Given the description of an element on the screen output the (x, y) to click on. 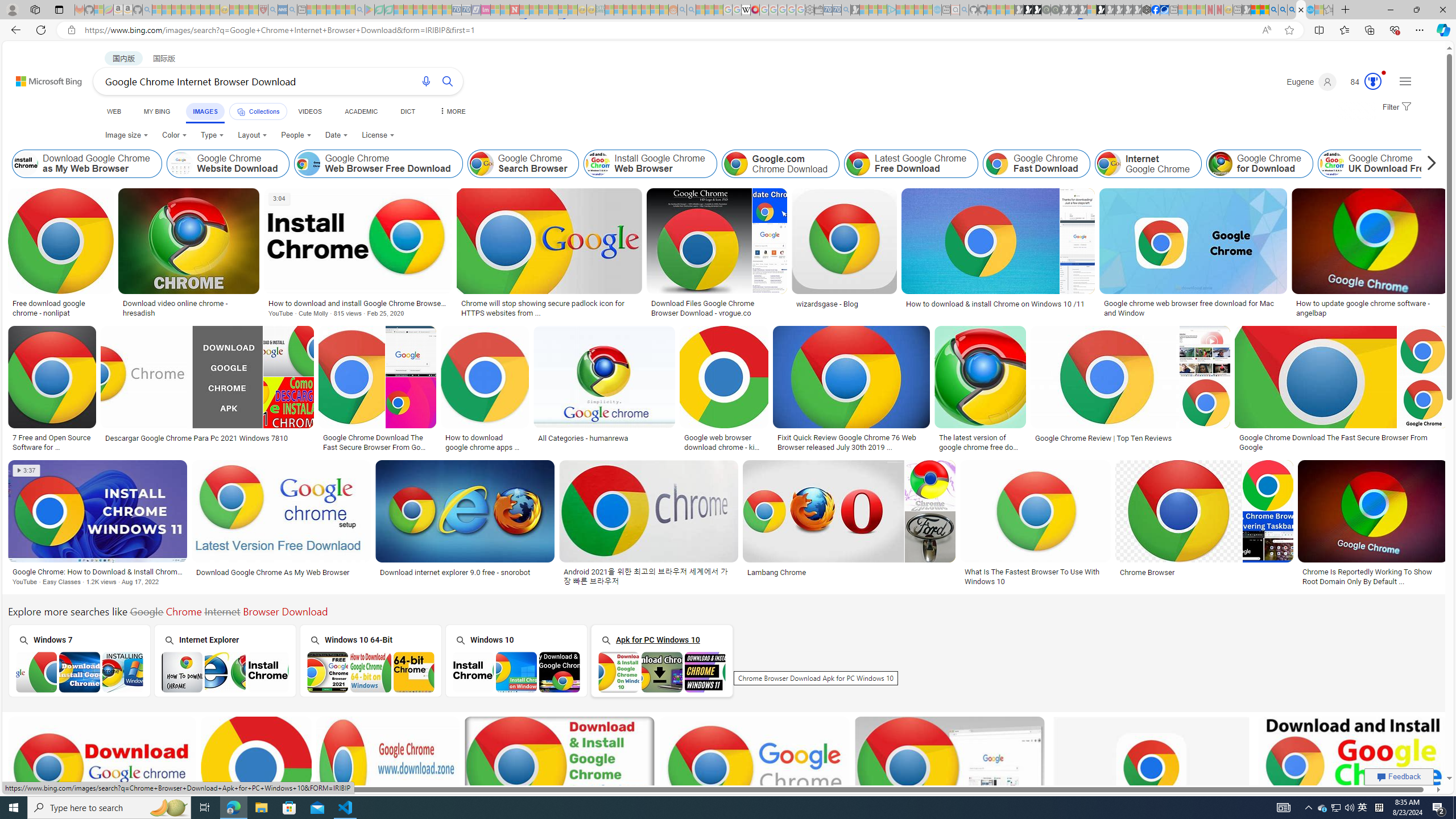
Internet Explorer (224, 660)
Download internet explorer 9.0 free - snorobot (454, 571)
Latest Google Chrome Free Download (857, 163)
Watch video (279, 198)
14 Common Myths Debunked By Scientific Facts - Sleeping (533, 9)
AutomationID: serp_medal_svg (1372, 81)
Google Chrome for Download (1219, 163)
